Given the description of an element on the screen output the (x, y) to click on. 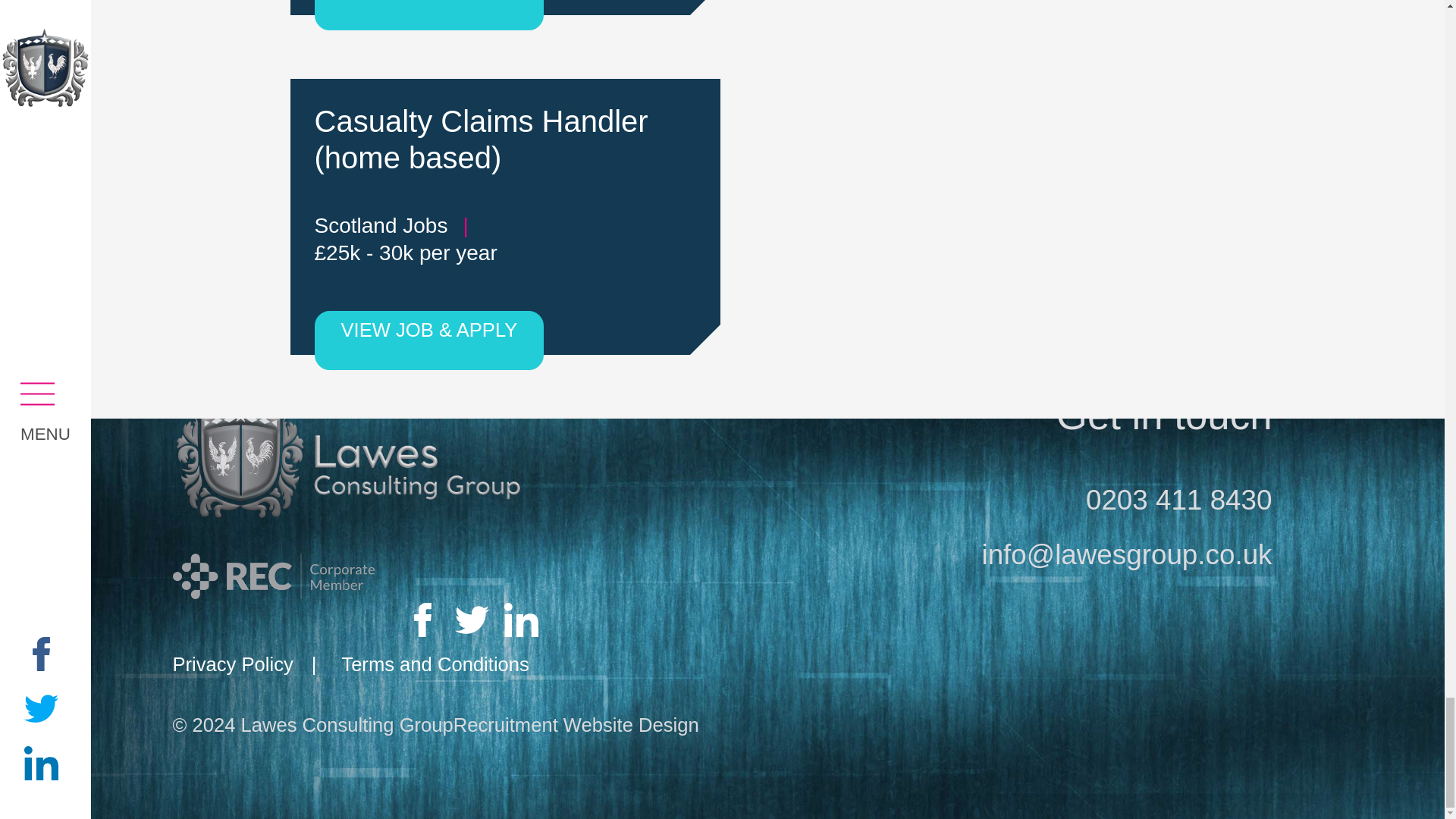
Scotland Jobs (380, 225)
